Given the description of an element on the screen output the (x, y) to click on. 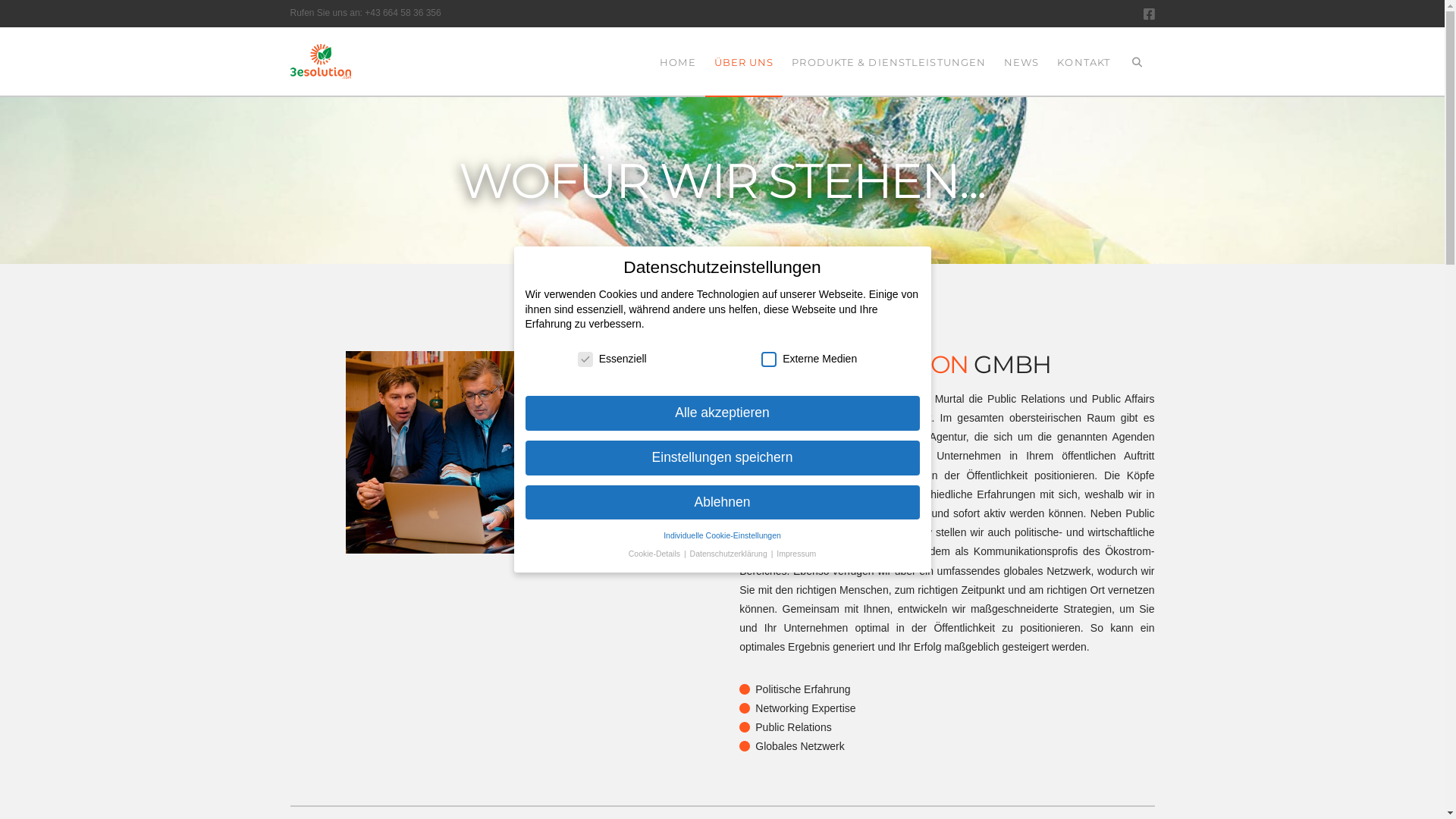
Cookie-Details Element type: text (655, 553)
PRODUKTE & DIENSTLEISTUNGEN Element type: text (888, 61)
Facebook Element type: hover (1148, 13)
HOME Element type: text (676, 61)
Einstellungen speichern Element type: text (721, 457)
Impressum Element type: text (795, 553)
KONTAKT Element type: text (1083, 61)
Alle akzeptieren Element type: text (721, 412)
NEWS Element type: text (1021, 61)
Ablehnen Element type: text (721, 502)
Individuelle Cookie-Einstellungen Element type: text (722, 534)
